Given the description of an element on the screen output the (x, y) to click on. 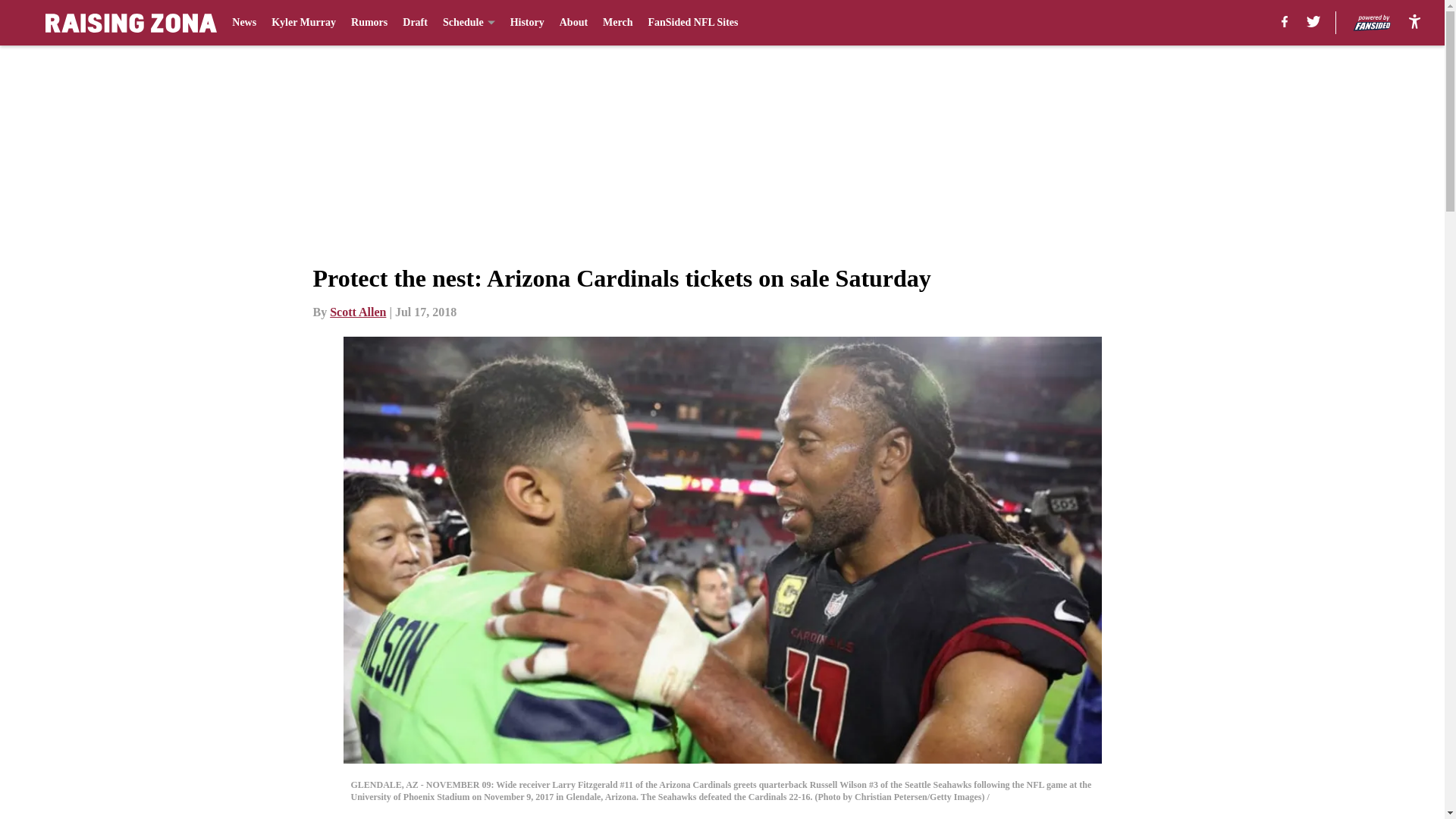
Rumors (368, 22)
Kyler Murray (303, 22)
Draft (415, 22)
About (573, 22)
Merch (616, 22)
History (527, 22)
Scott Allen (357, 311)
News (243, 22)
FanSided NFL Sites (692, 22)
